Given the description of an element on the screen output the (x, y) to click on. 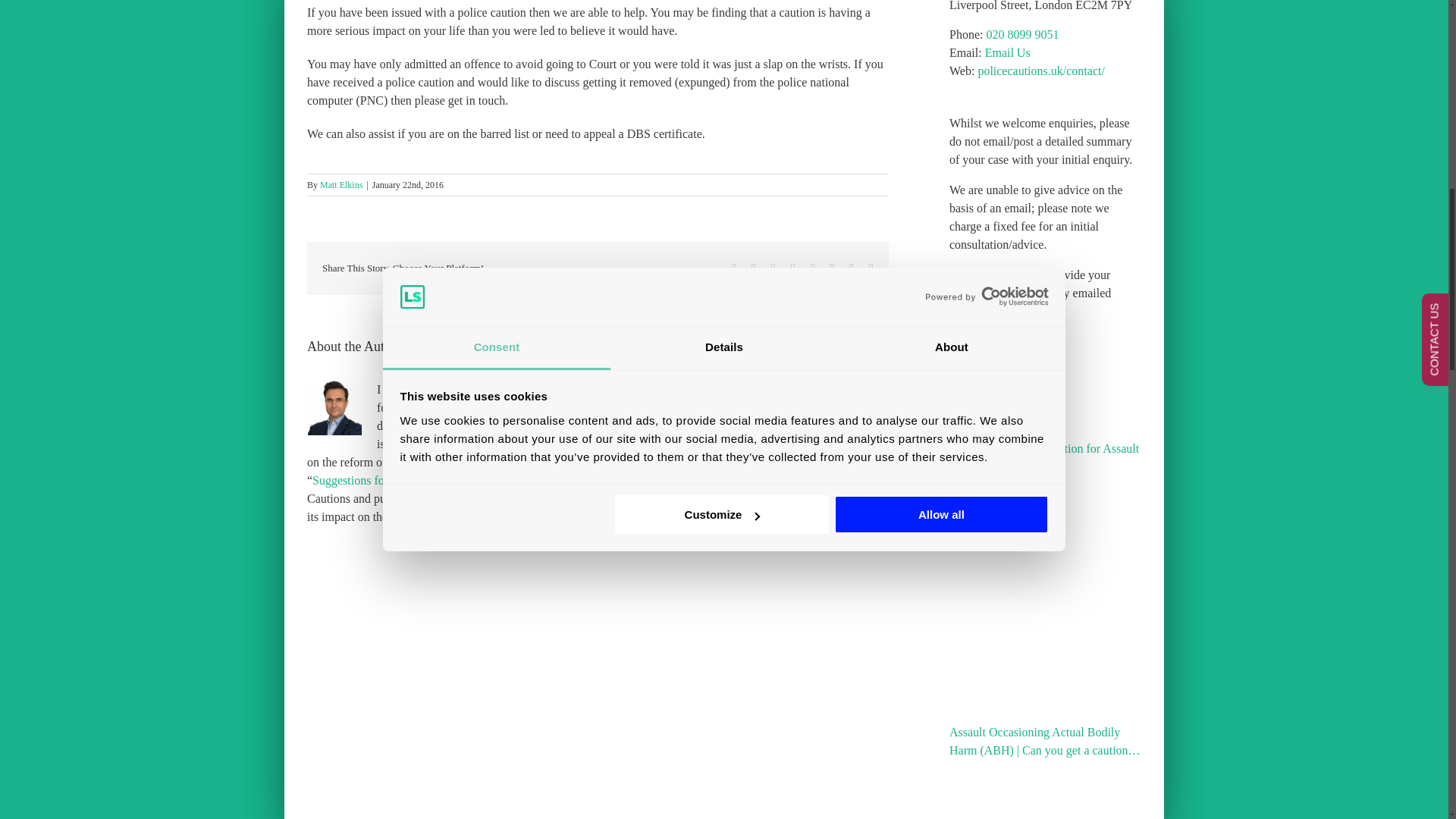
Posts by Matt Elkins (341, 184)
